Given the description of an element on the screen output the (x, y) to click on. 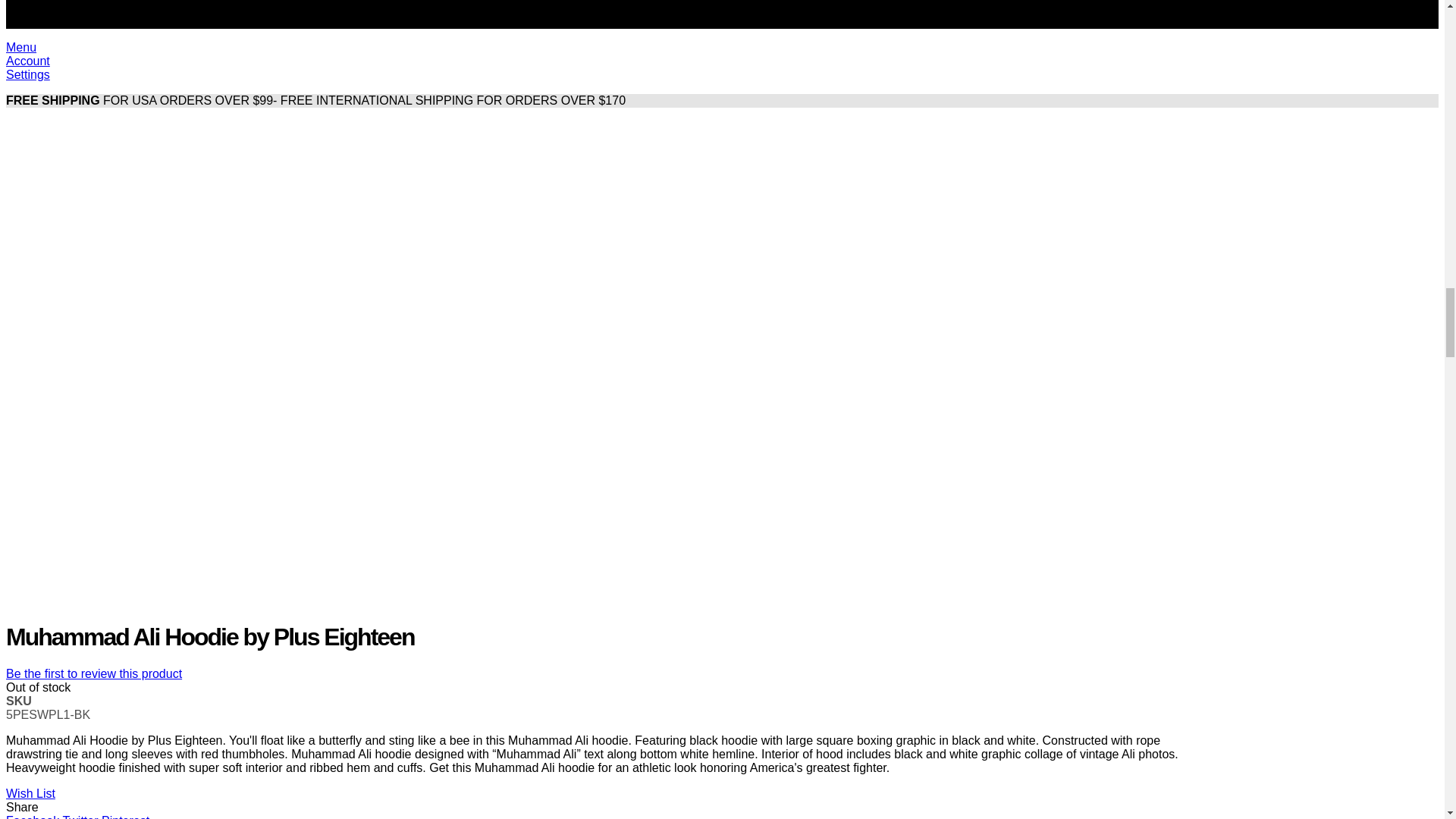
Availability (597, 687)
